Given the description of an element on the screen output the (x, y) to click on. 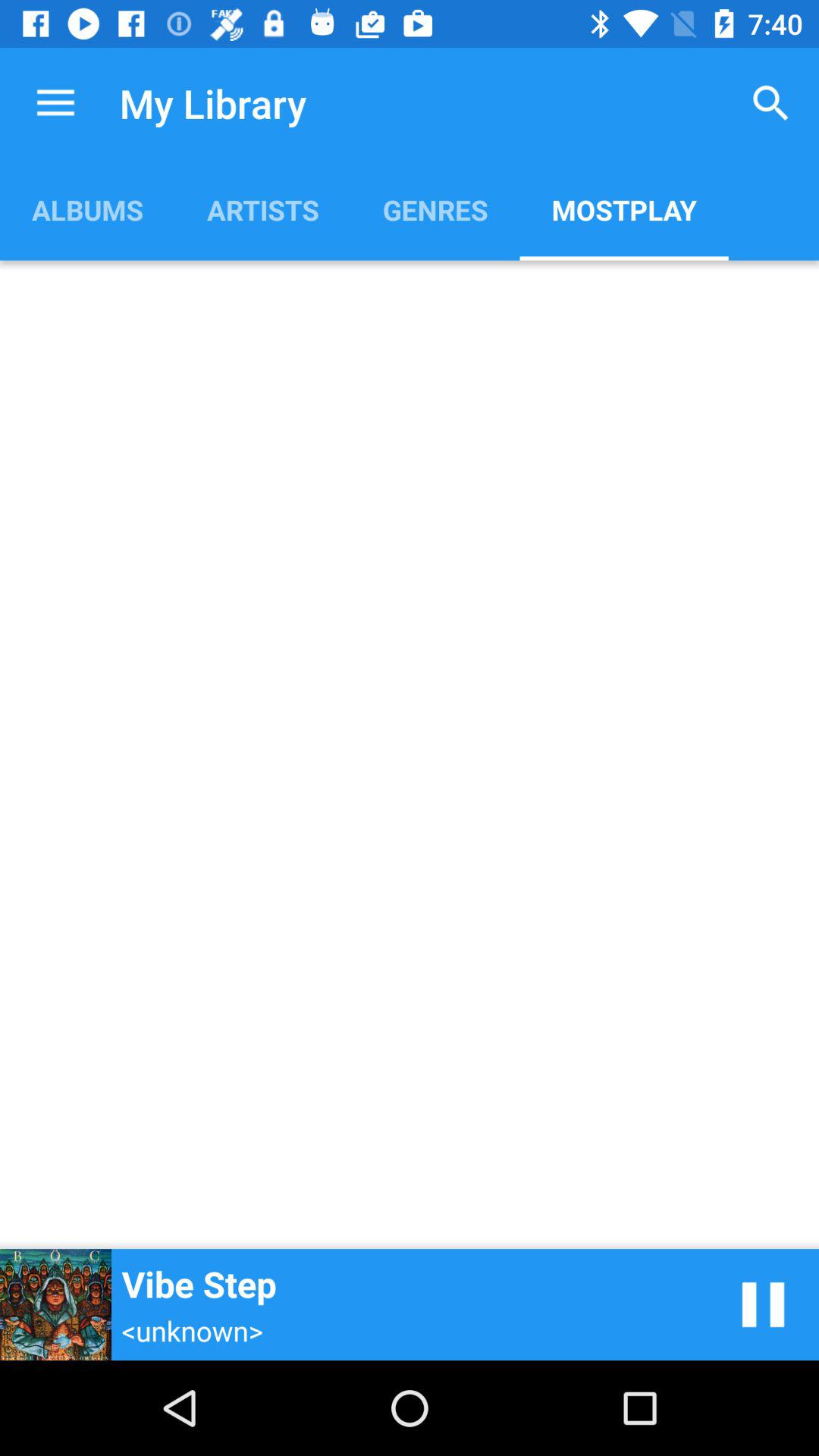
pause song (763, 1304)
